Given the description of an element on the screen output the (x, y) to click on. 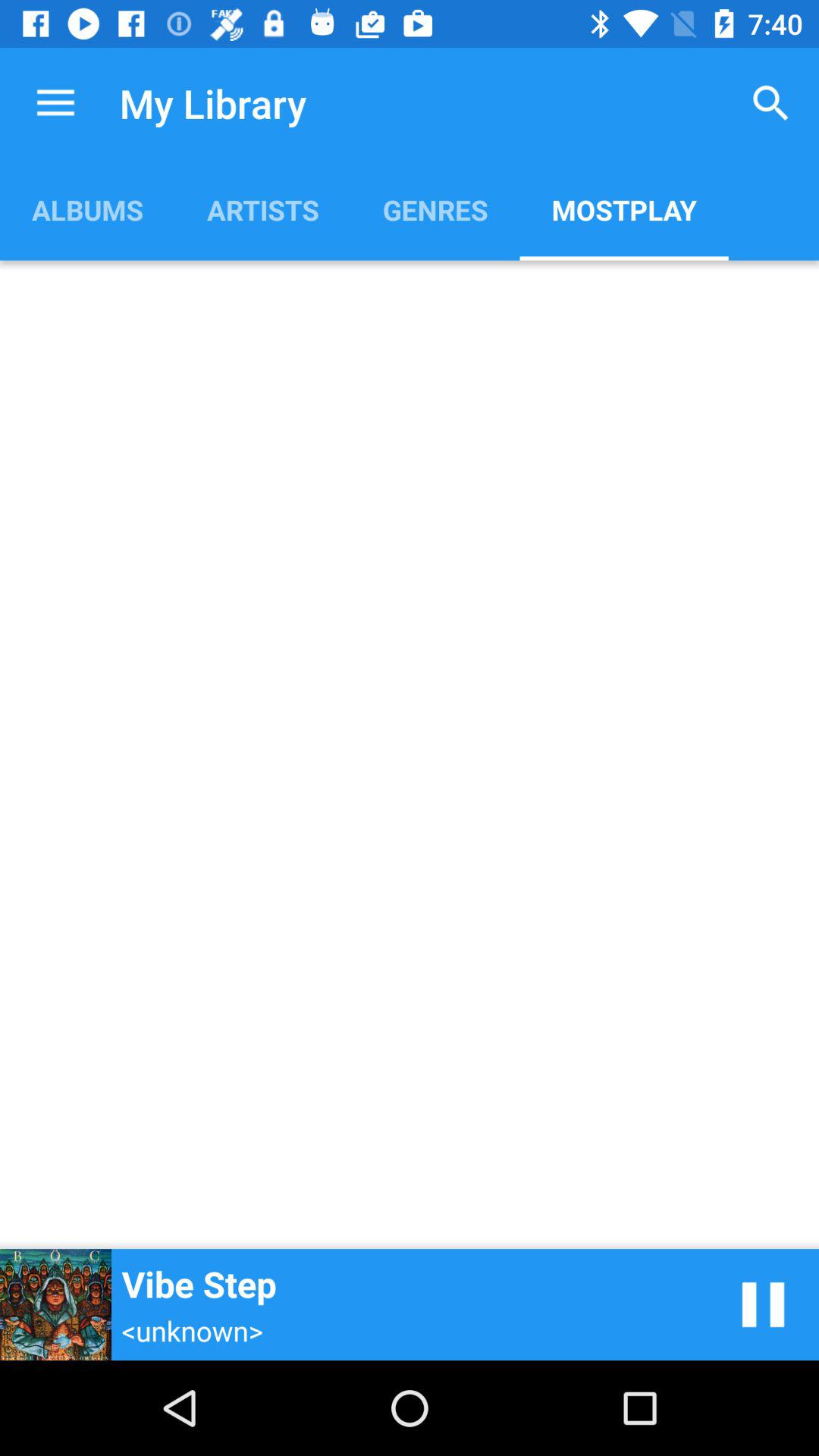
pause song (763, 1304)
